Given the description of an element on the screen output the (x, y) to click on. 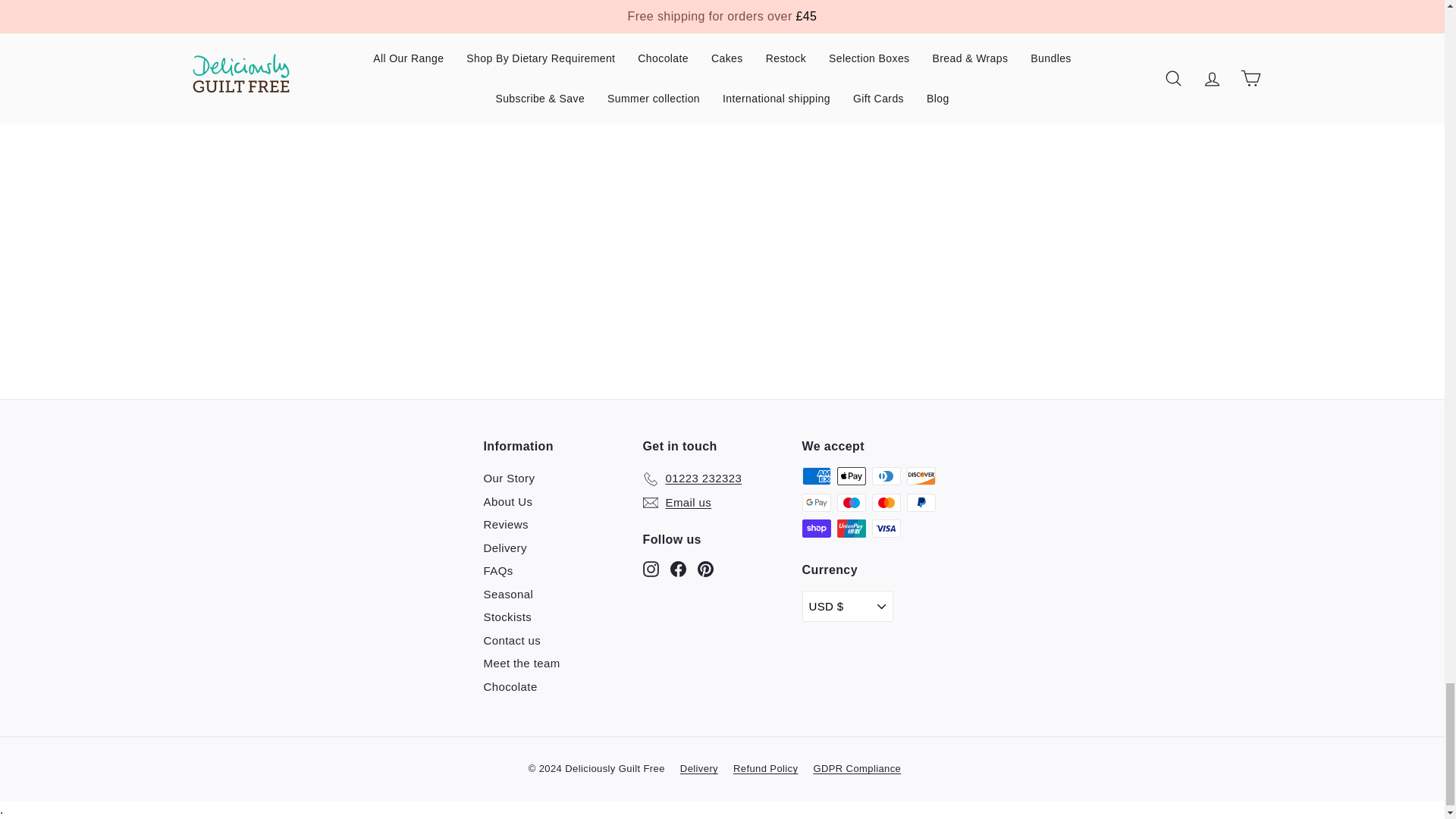
Deliciously Guilt Free on Instagram (651, 569)
Deliciously Guilt Free on Pinterest (705, 569)
Deliciously Guilt Free on Facebook (677, 569)
